Given the description of an element on the screen output the (x, y) to click on. 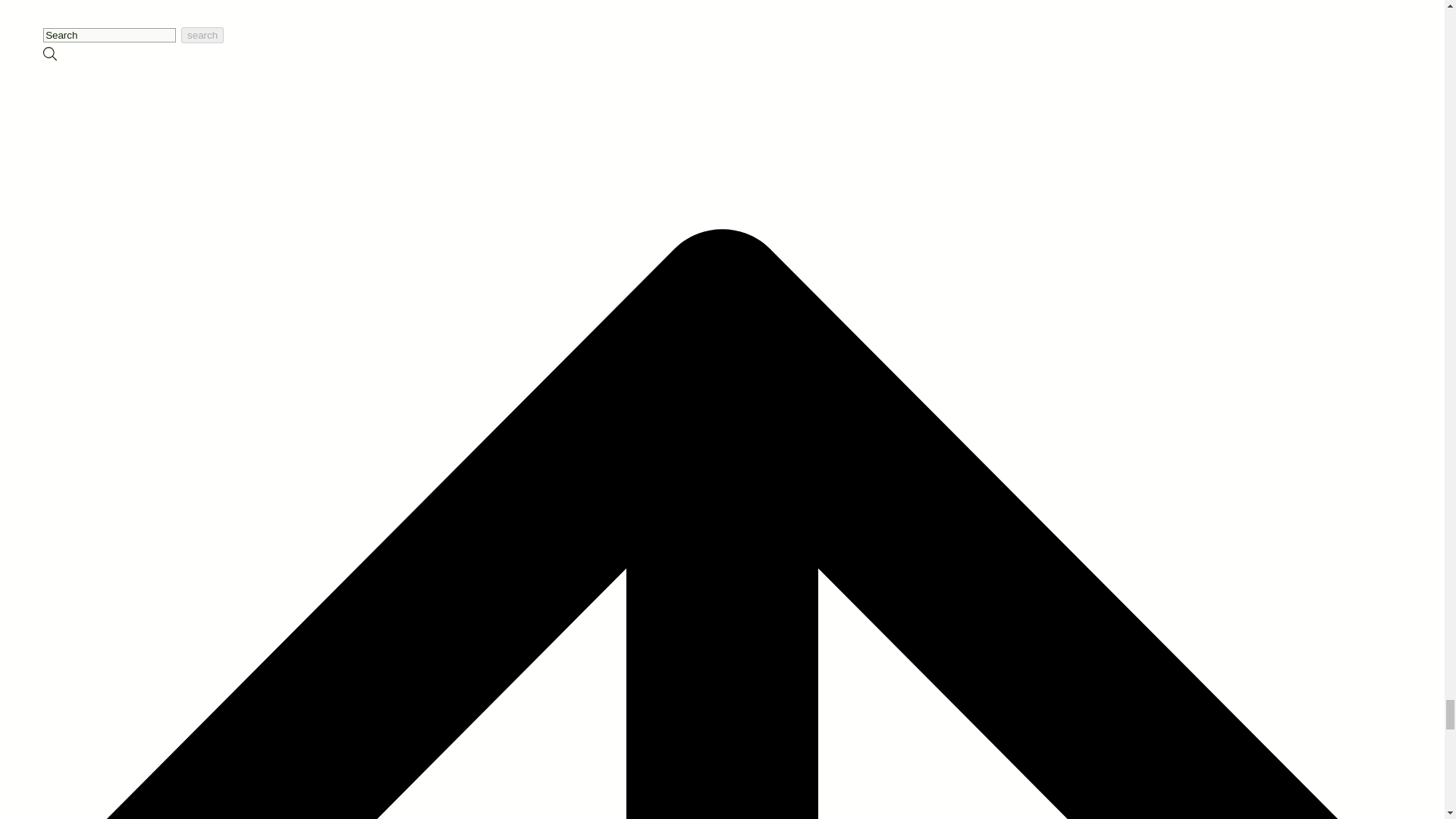
search (202, 35)
